Given the description of an element on the screen output the (x, y) to click on. 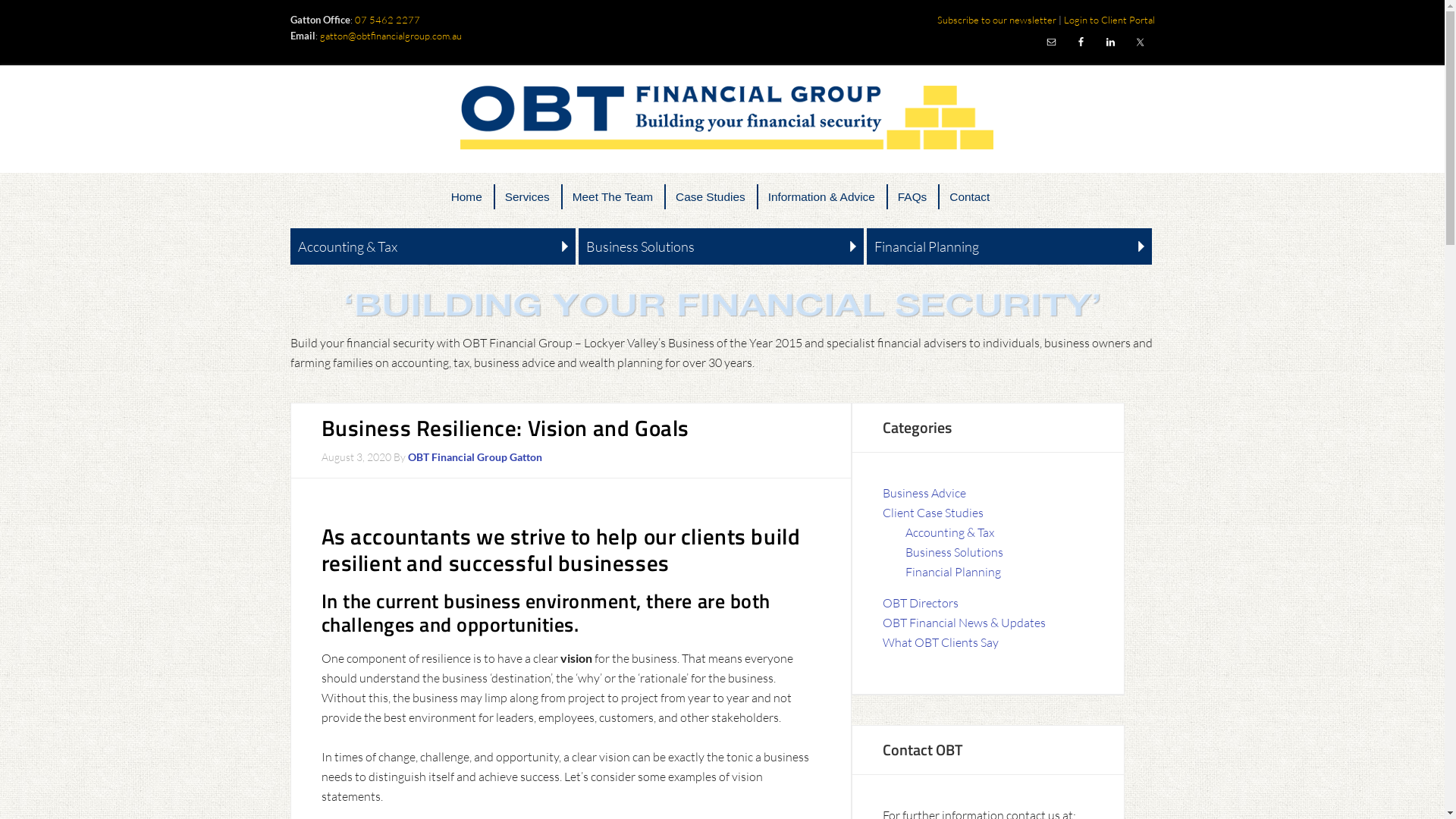
07 5462 2277 Element type: text (387, 19)
OBT Financial Group Element type: text (721, 117)
Information & Advice Element type: text (821, 196)
What OBT Clients Say Element type: text (940, 641)
Business Solutions Element type: text (954, 551)
OBT Financial Group Gatton Element type: text (474, 456)
Contact Element type: text (969, 196)
Financial Planning Element type: text (953, 571)
gatton@obtfinancialgroup.com.au Element type: text (390, 35)
Business Solutions Element type: text (720, 246)
Services Element type: text (527, 196)
Subscribe to our newsletter Element type: text (996, 19)
Meet The Team Element type: text (612, 196)
OBT Directors Element type: text (920, 602)
FAQs Element type: text (912, 196)
Home Element type: text (466, 196)
Case Studies Element type: text (710, 196)
OBT Financial News & Updates Element type: text (963, 622)
Financial Planning Element type: text (1008, 246)
Business Advice Element type: text (924, 492)
Client Case Studies Element type: text (932, 512)
Accounting & Tax Element type: text (431, 246)
Accounting & Tax Element type: text (949, 531)
Login to Client Portal Element type: text (1108, 19)
